Given the description of an element on the screen output the (x, y) to click on. 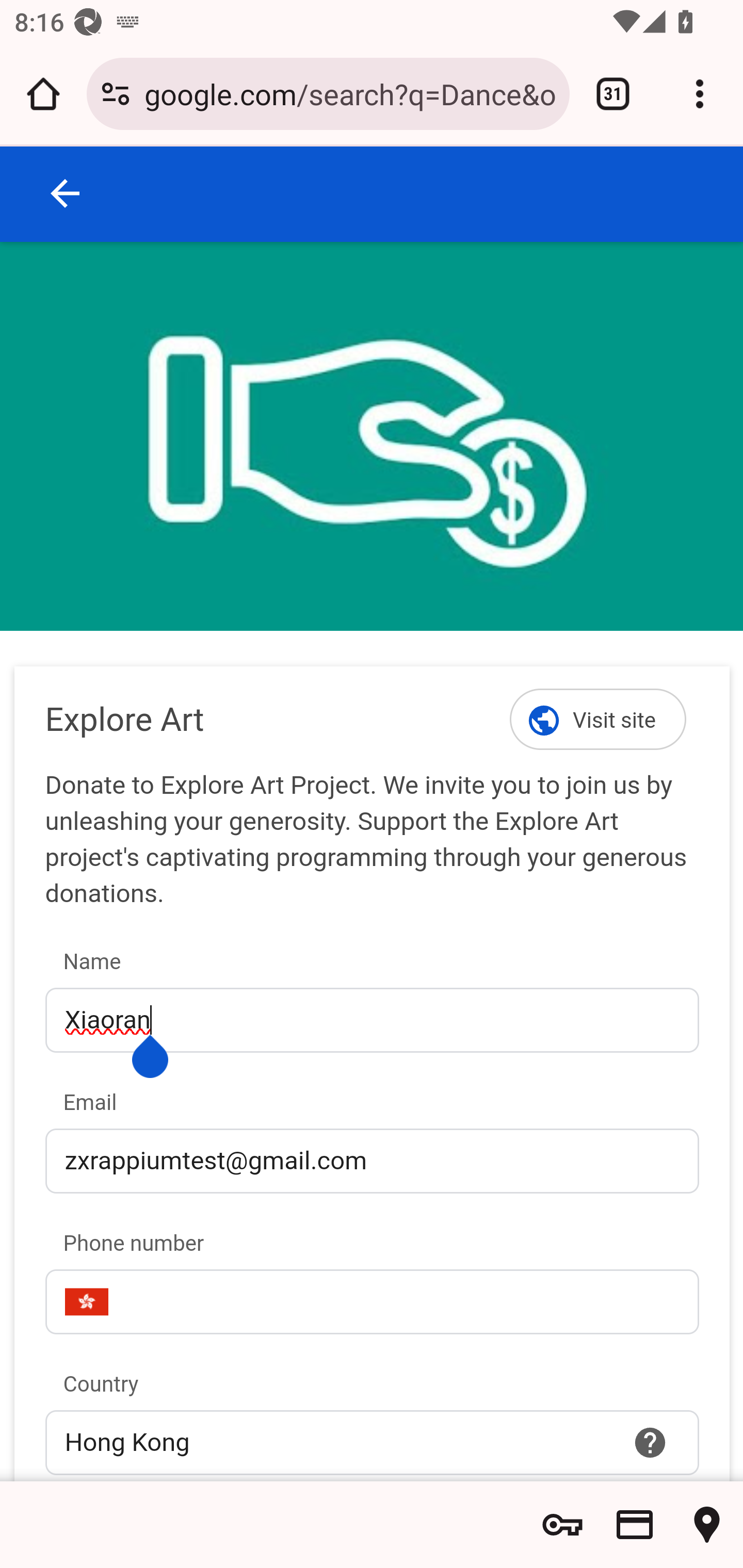
Open the home page (43, 93)
Connection is secure (115, 93)
Switch or close tabs (612, 93)
Customize and control Google Chrome (699, 93)
Back (65, 192)
Visit site (598, 718)
Xiaoran (371, 1019)
zxrappiumtest@gmail.com (371, 1159)
Hong Kong (371, 1442)
country help (650, 1442)
Show saved passwords and password options (562, 1524)
Show saved payment methods (634, 1524)
Show saved addresses (706, 1524)
